Given the description of an element on the screen output the (x, y) to click on. 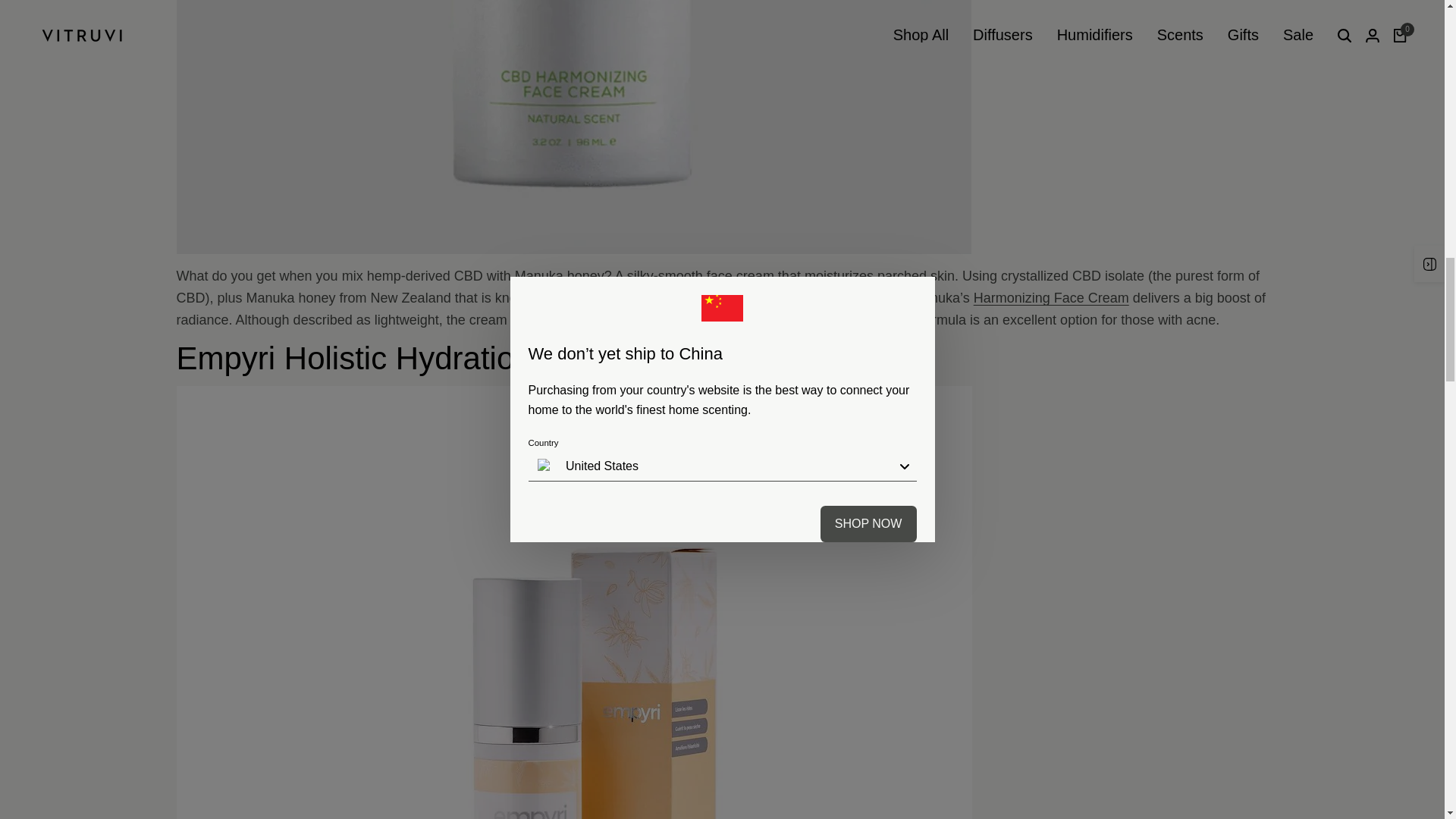
Cannuka Harmonizing Face Cream (1051, 297)
